Given the description of an element on the screen output the (x, y) to click on. 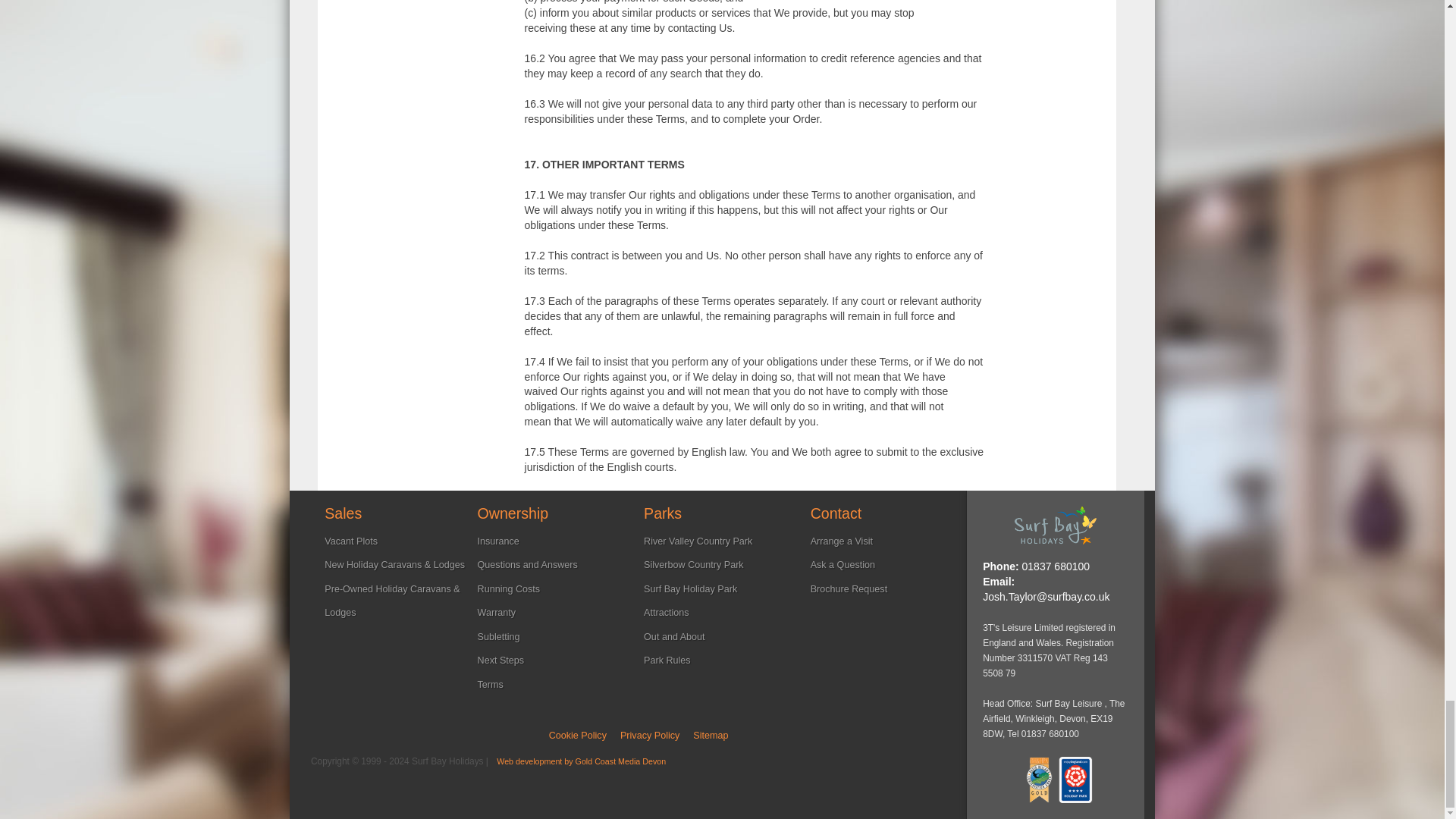
Running Costs (508, 588)
Warranty (496, 612)
Questions and Answers (527, 564)
Next Steps (500, 660)
Subletting (498, 636)
Vacant Plots (350, 541)
Insurance (498, 541)
